Given the description of an element on the screen output the (x, y) to click on. 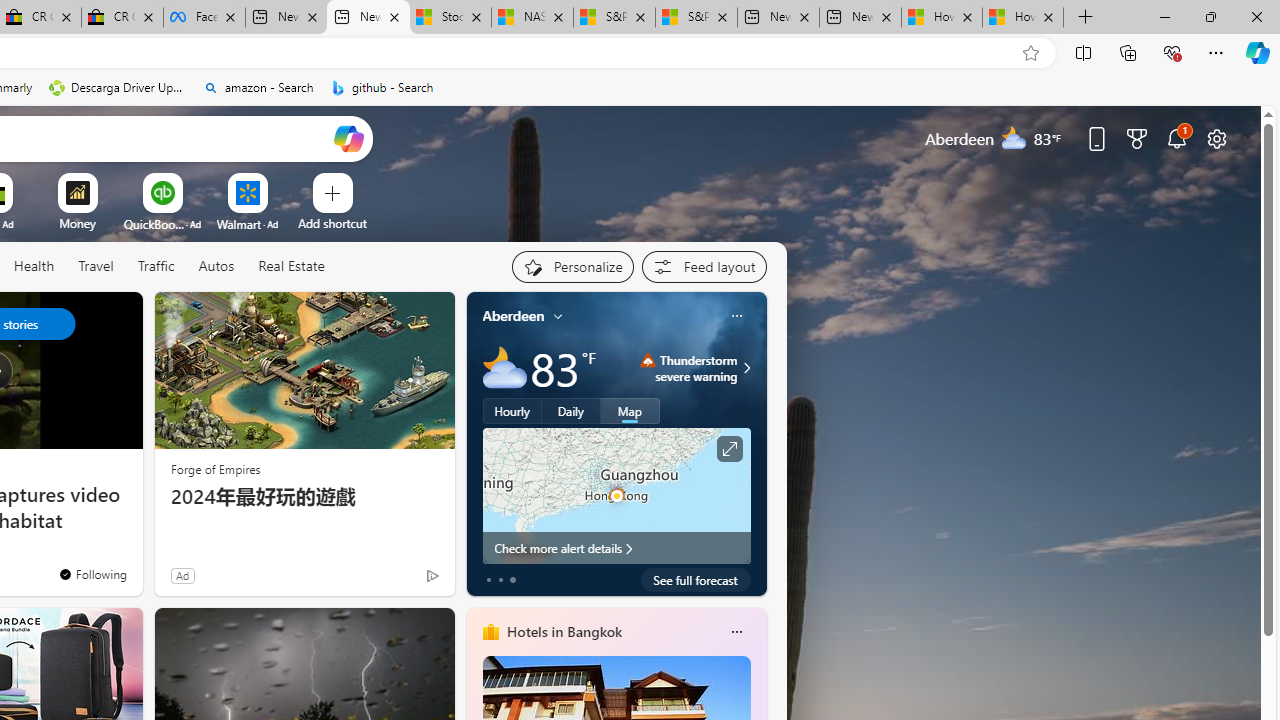
tab-0 (488, 579)
Class: icon-img (736, 632)
Descarga Driver Updater (118, 88)
Hotels in Bangkok (563, 631)
Traffic (155, 265)
Page settings (1216, 138)
Autos (216, 267)
See full forecast (695, 579)
Notifications (1176, 138)
